Given the description of an element on the screen output the (x, y) to click on. 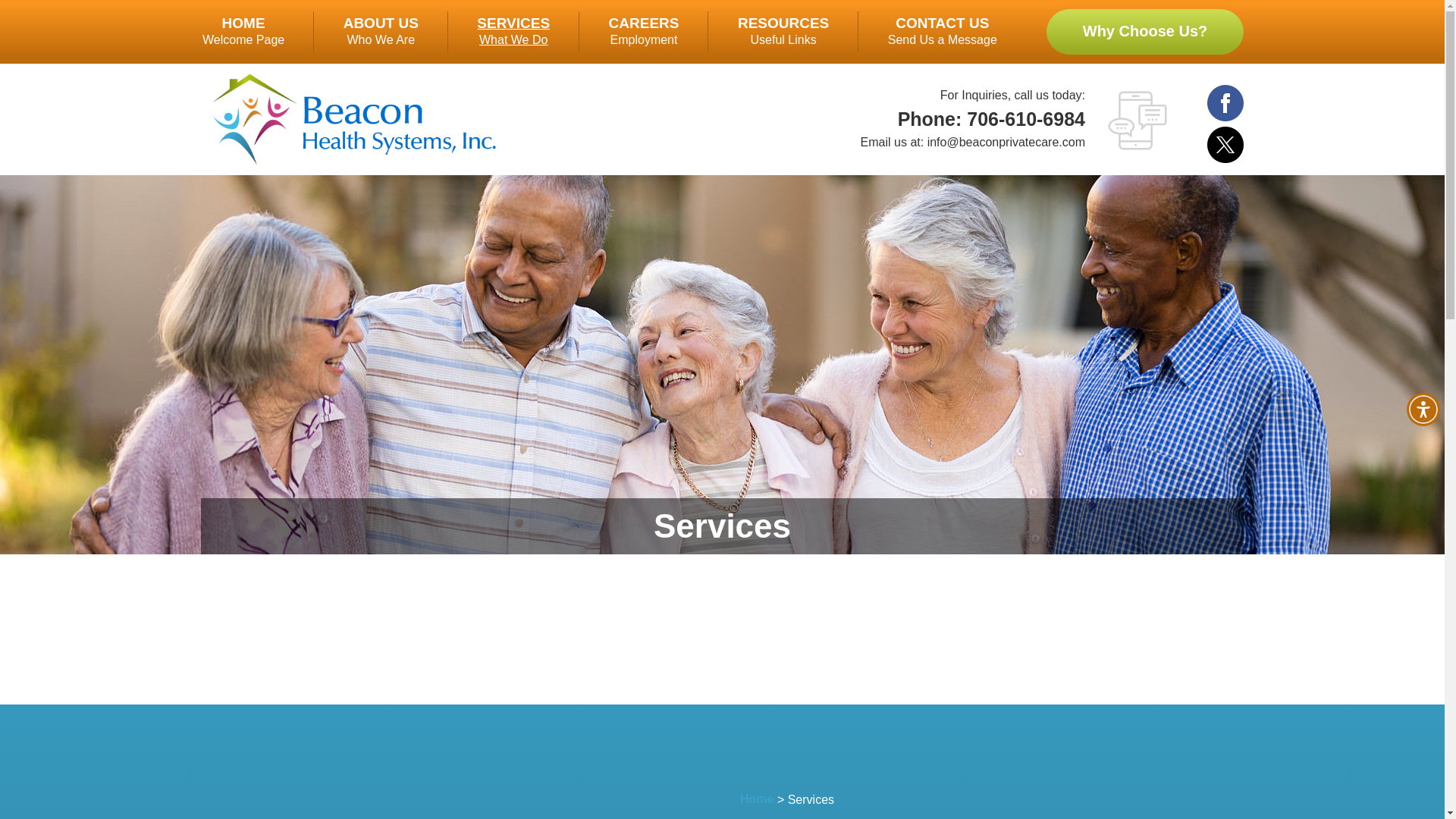
Why Choose Us? (1144, 31)
Go to Home. (242, 31)
Home (782, 31)
Accessibility Menu (756, 799)
